Given the description of an element on the screen output the (x, y) to click on. 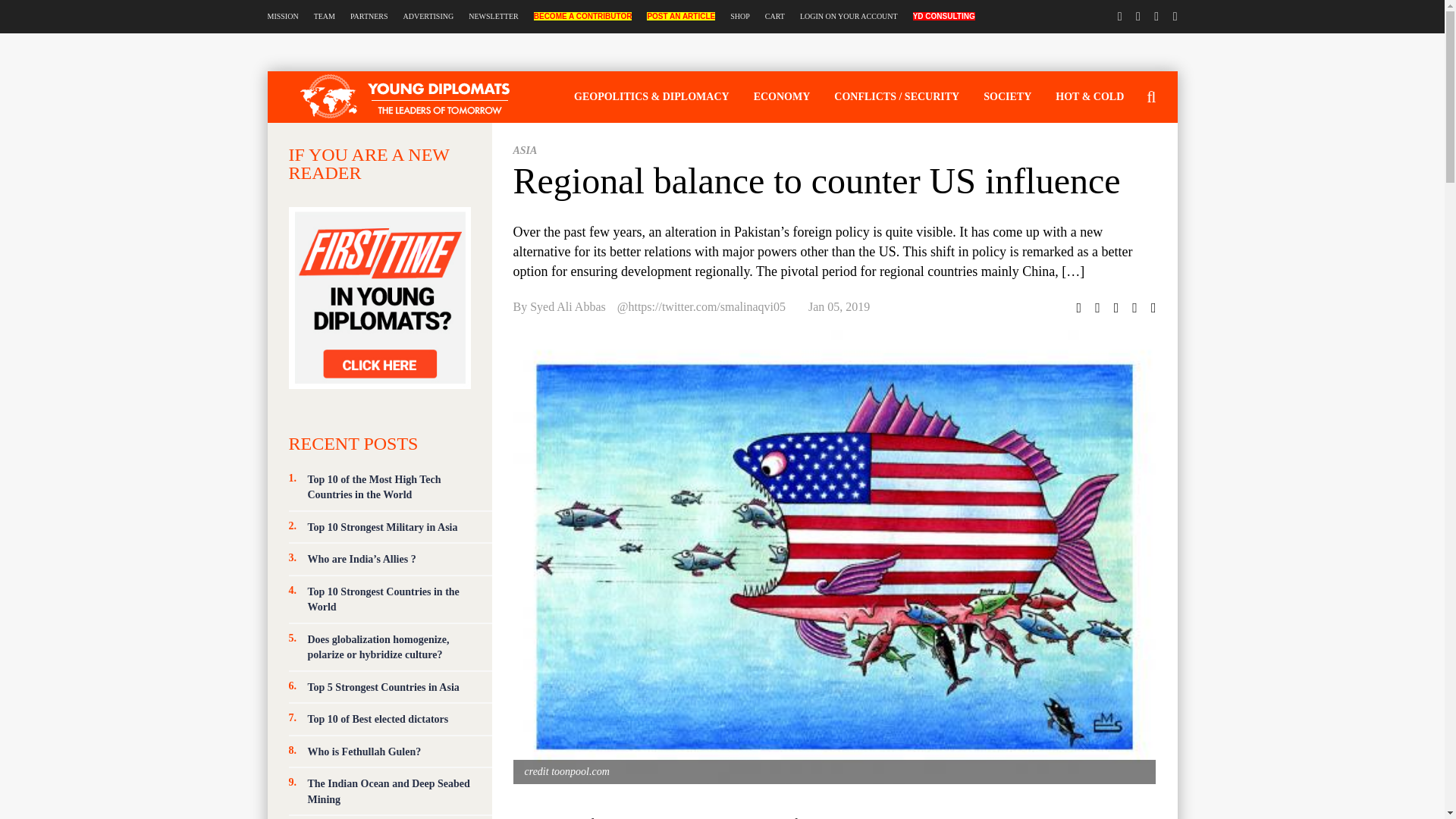
NEWSLETTER (493, 16)
SHOP (739, 16)
MISSION (282, 16)
LOGIN ON YOUR ACCOUNT (848, 16)
POST AN ARTICLE (680, 16)
ADVERTISING (428, 16)
ECONOMY (781, 96)
BECOME A CONTRIBUTOR (582, 16)
YD CONSULTING (943, 16)
PARTNERS (369, 16)
CART (774, 16)
TEAM (324, 16)
SOCIETY (1007, 96)
